Given the description of an element on the screen output the (x, y) to click on. 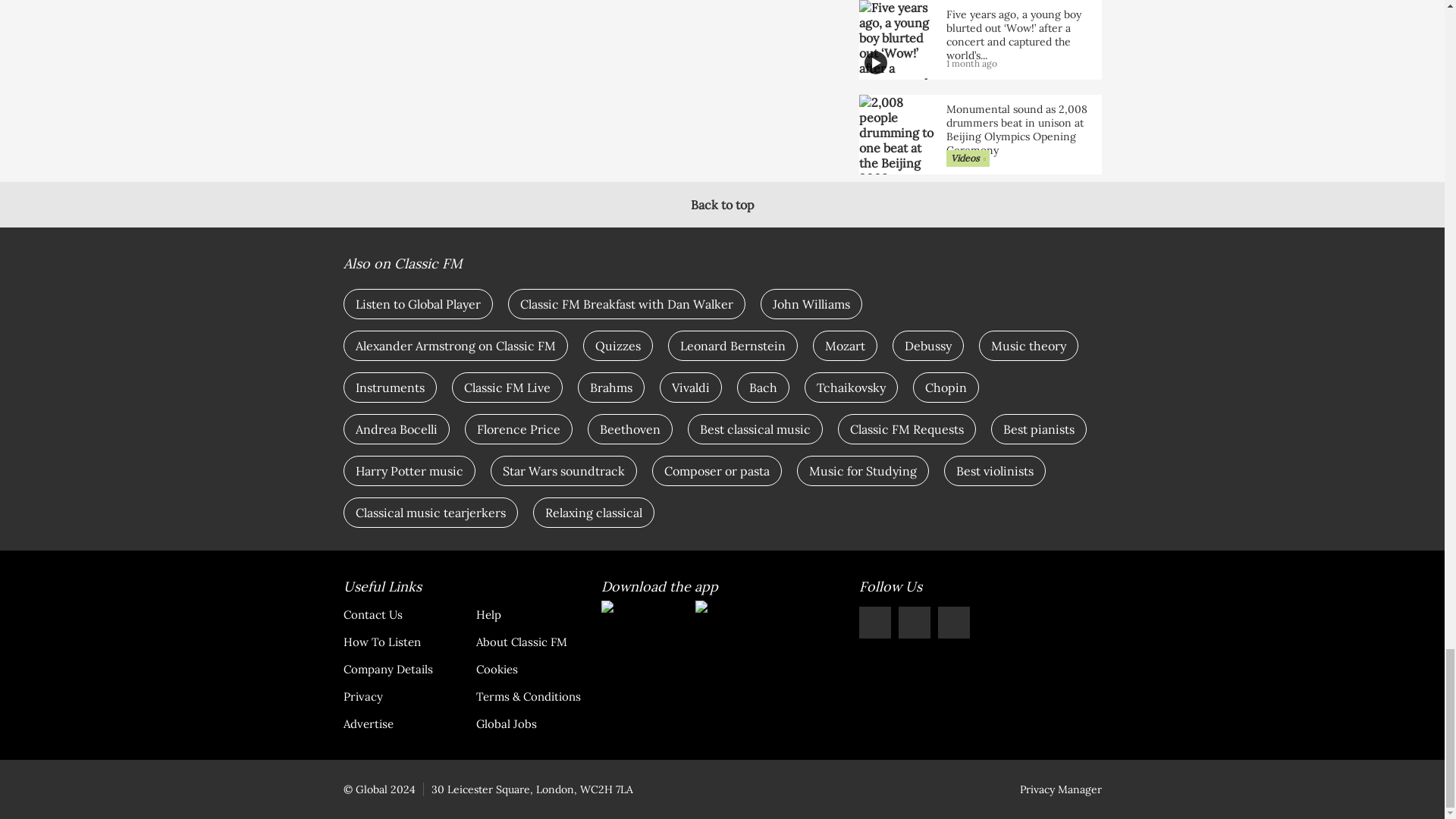
Follow Classic FM on Instagram (914, 622)
Follow Classic FM on Facebook (874, 622)
Back to top (722, 204)
Follow Classic FM on Youtube (953, 622)
